Given the description of an element on the screen output the (x, y) to click on. 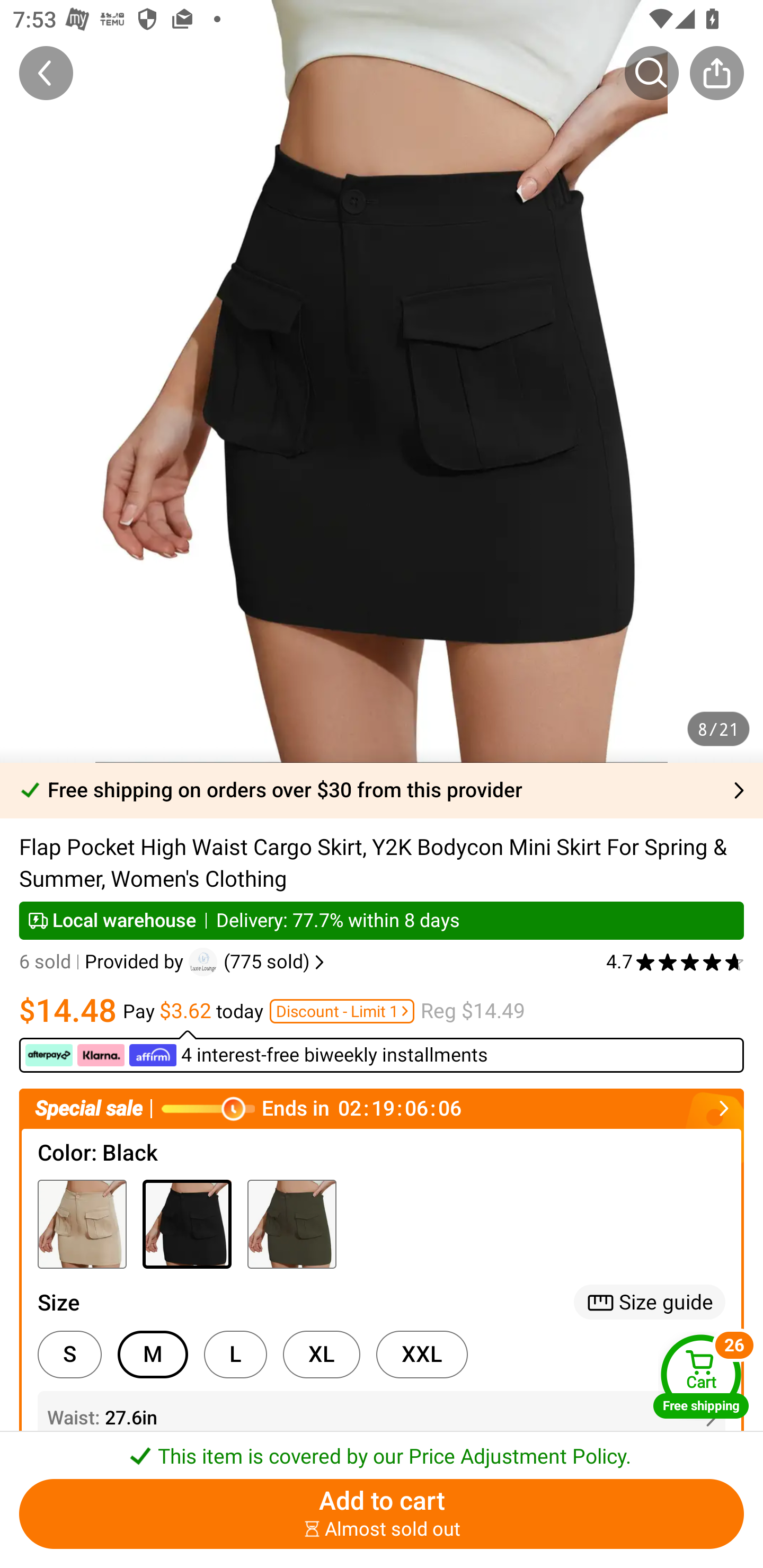
Back (46, 72)
Share (716, 72)
Local warehouse Delivery: 77.7% within 8 days (381, 920)
6 sold Provided by  (103, 961)
4.7 (674, 961)
￼ ￼ ￼ 4 interest-free biweekly installments (381, 1051)
Special sale Ends in￼￼ (381, 1108)
Khaki (81, 1223)
Black (186, 1223)
Army Green (291, 1223)
 Size guide (649, 1302)
S (69, 1354)
M (152, 1354)
L (235, 1354)
XL (321, 1354)
XXL (421, 1354)
Cart Free shipping Cart (701, 1375)
Waist: 27.6in￼ (381, 1417)
Add to cart ￼￼Almost sold out (381, 1513)
